Given the description of an element on the screen output the (x, y) to click on. 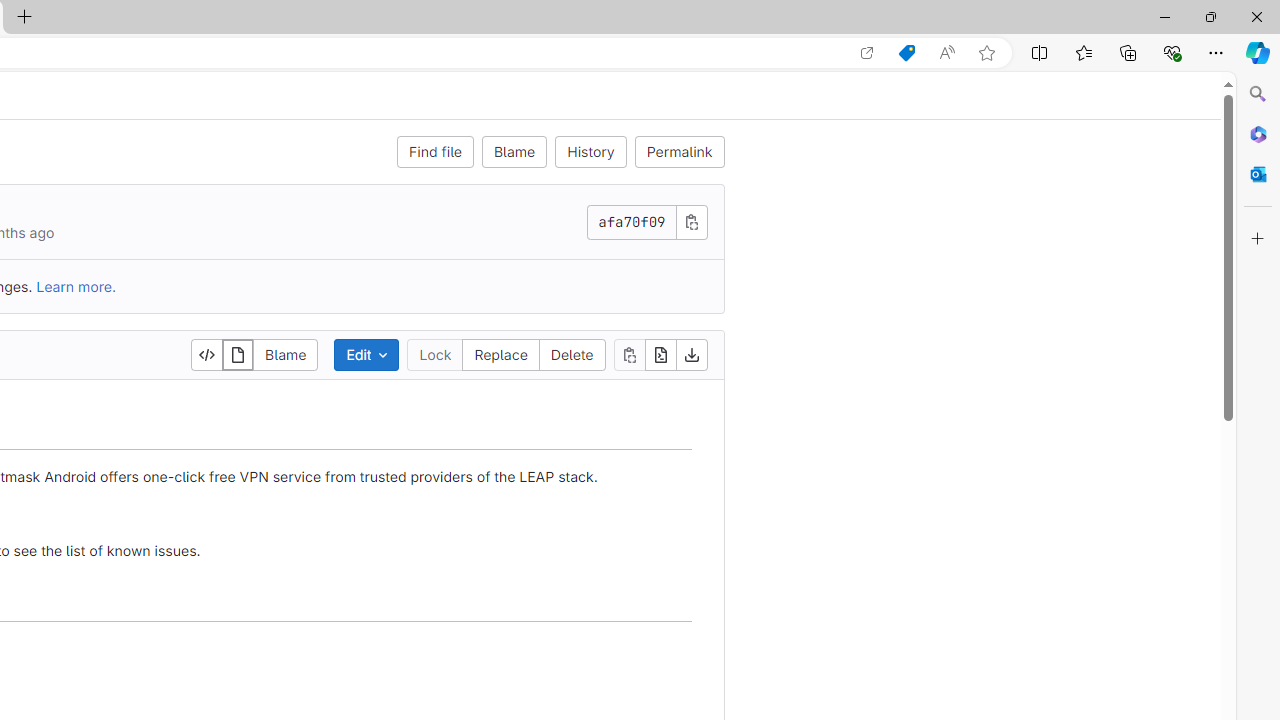
Open raw (660, 354)
